Given the description of an element on the screen output the (x, y) to click on. 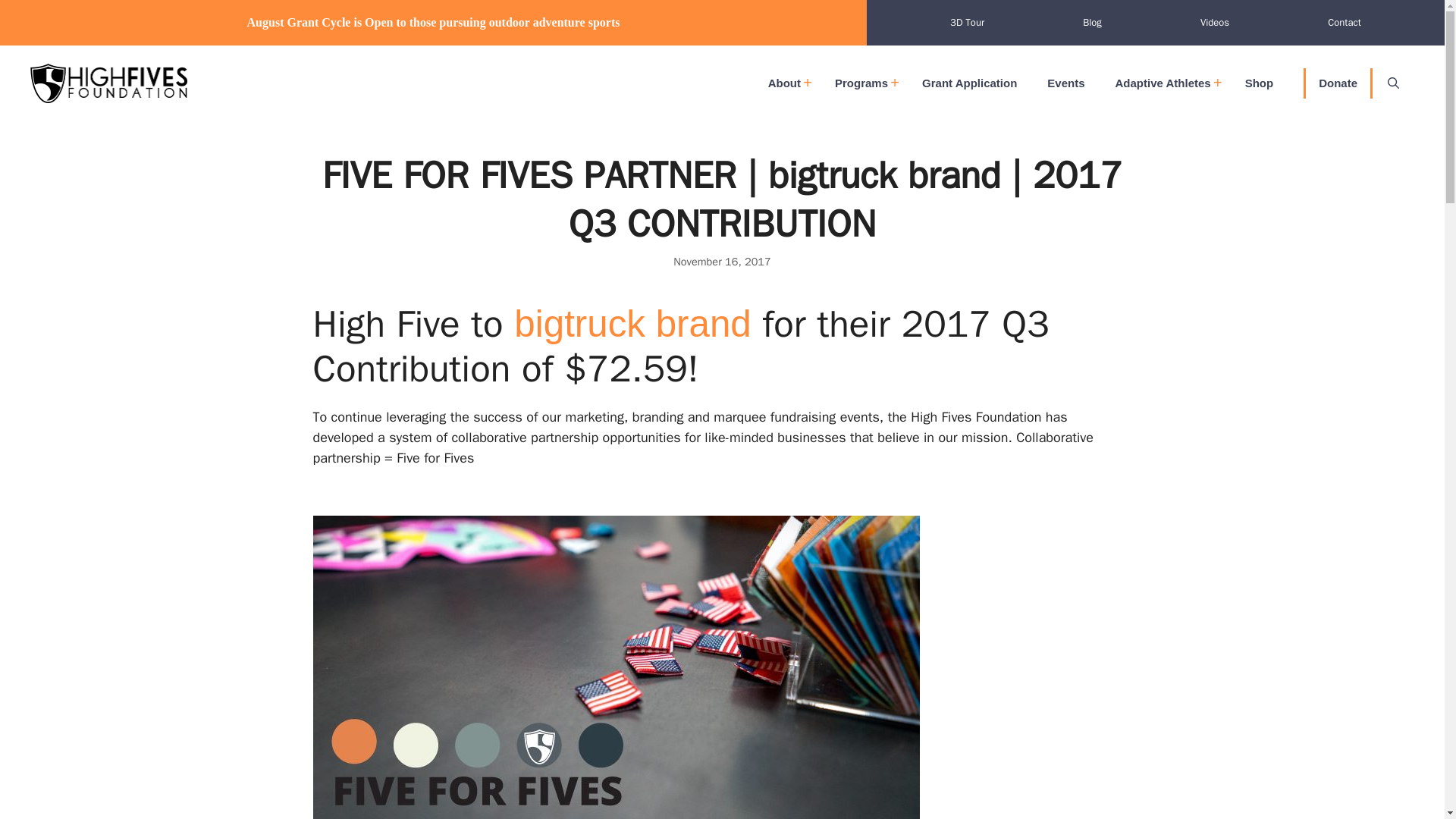
Grant Application (969, 83)
Adaptive Athletes (1165, 83)
Videos (1214, 22)
Shop (1259, 83)
3D Tour (966, 22)
Blog (1091, 22)
Donate (1338, 83)
Programs (863, 83)
Events (1065, 83)
Contact (1344, 22)
About (785, 83)
